Given the description of an element on the screen output the (x, y) to click on. 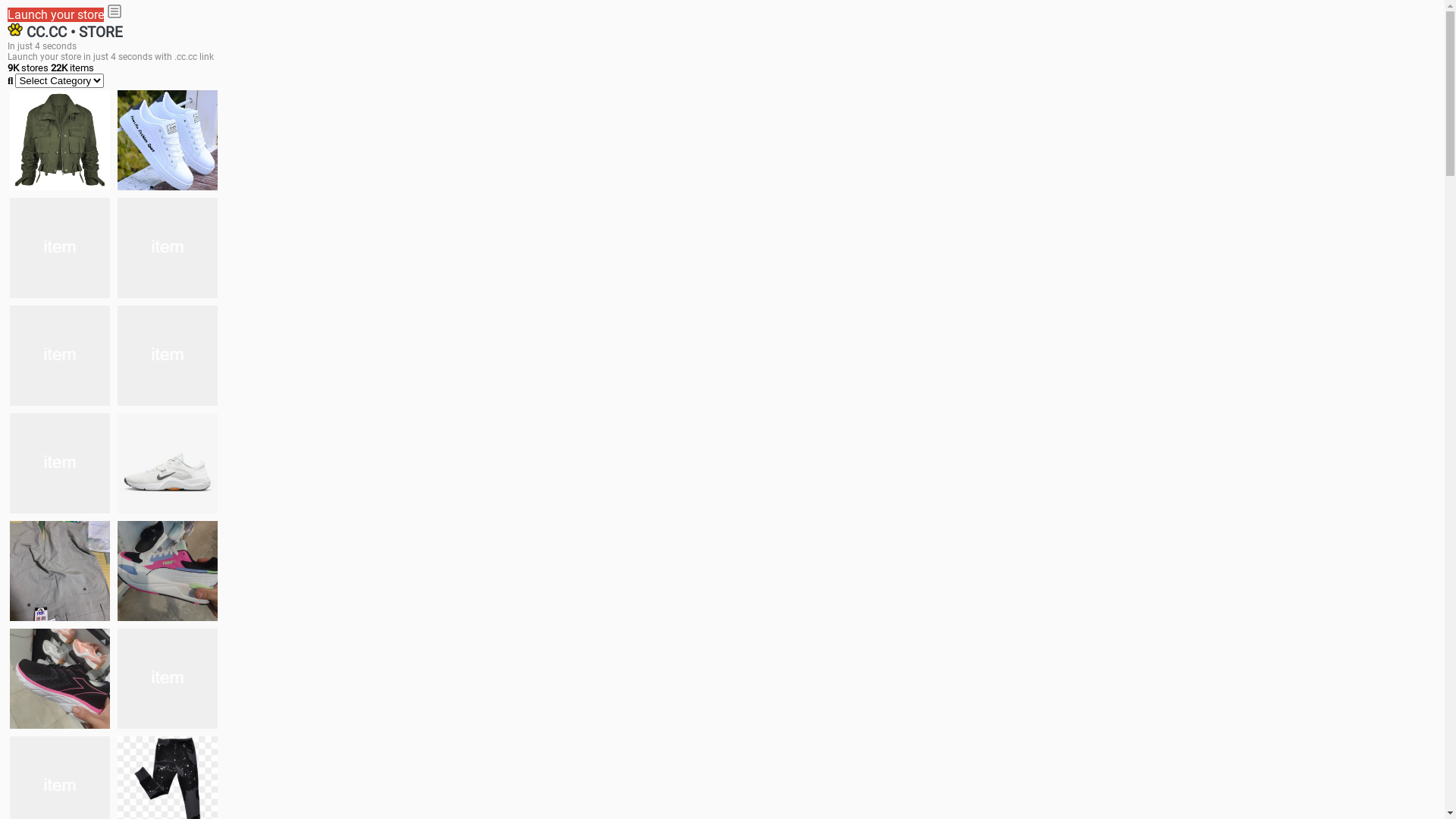
shoes for boys Element type: hover (59, 247)
white shoes Element type: hover (167, 140)
Shoes for boys Element type: hover (167, 247)
Dress/square nect top Element type: hover (59, 463)
jacket Element type: hover (59, 140)
Things we need Element type: hover (59, 355)
Short pant Element type: hover (167, 678)
Ukay cloth Element type: hover (167, 355)
Zapatillas pumas Element type: hover (167, 570)
Zapatillas Element type: hover (59, 678)
Shoes Element type: hover (167, 463)
Launch your store Element type: text (55, 14)
